Given the description of an element on the screen output the (x, y) to click on. 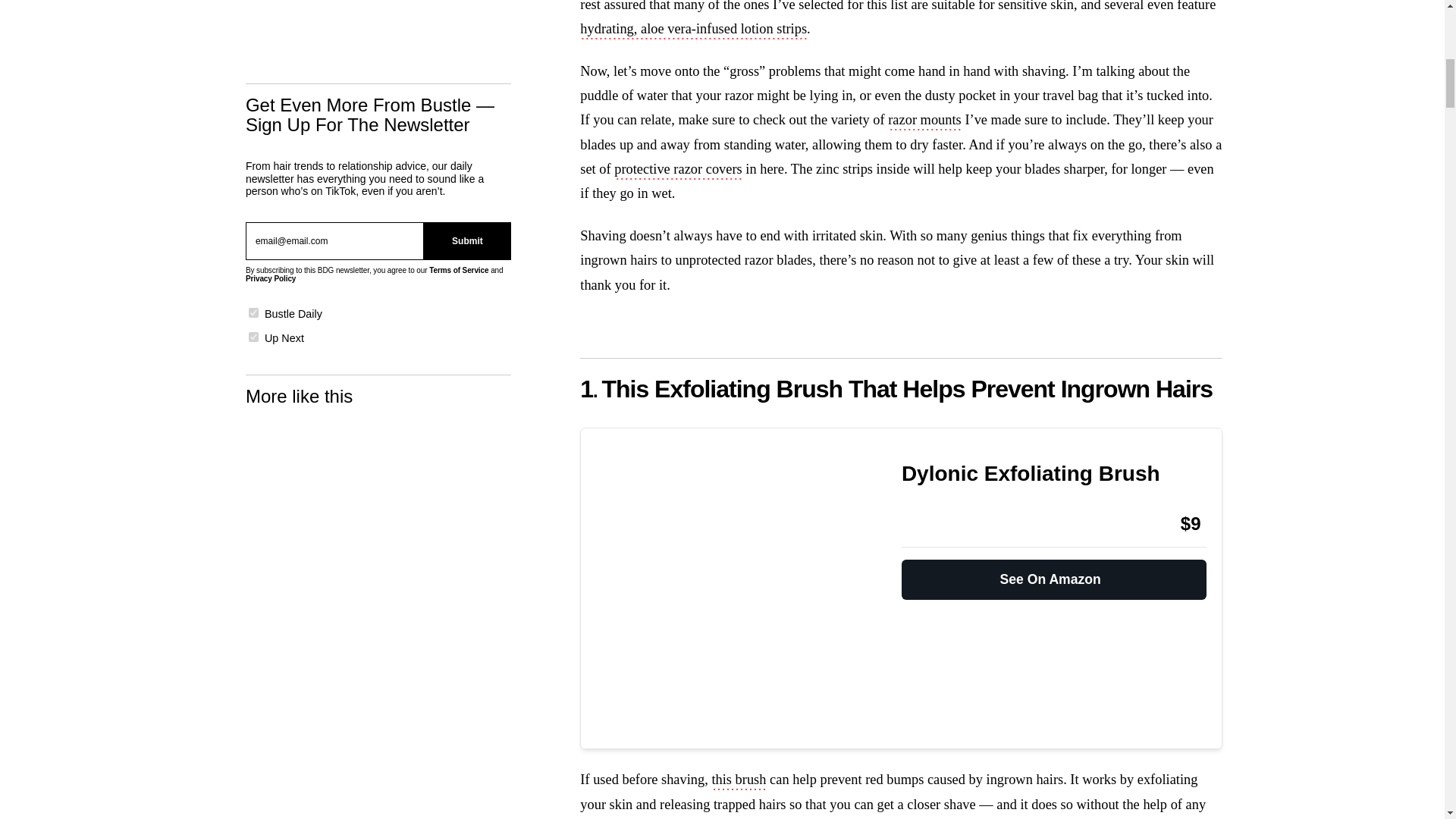
See On Amazon (1054, 573)
this brush (738, 781)
Amazon (941, 524)
hydrating, aloe vera-infused lotion strips (692, 30)
razor mounts (924, 121)
protective razor covers (678, 170)
